Given the description of an element on the screen output the (x, y) to click on. 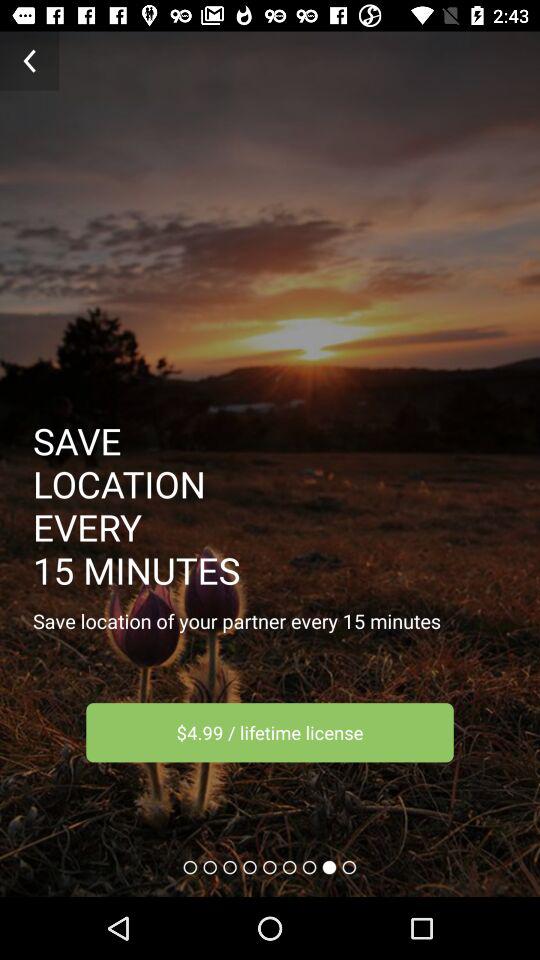
turn on the 4 99 lifetime item (269, 732)
